Given the description of an element on the screen output the (x, y) to click on. 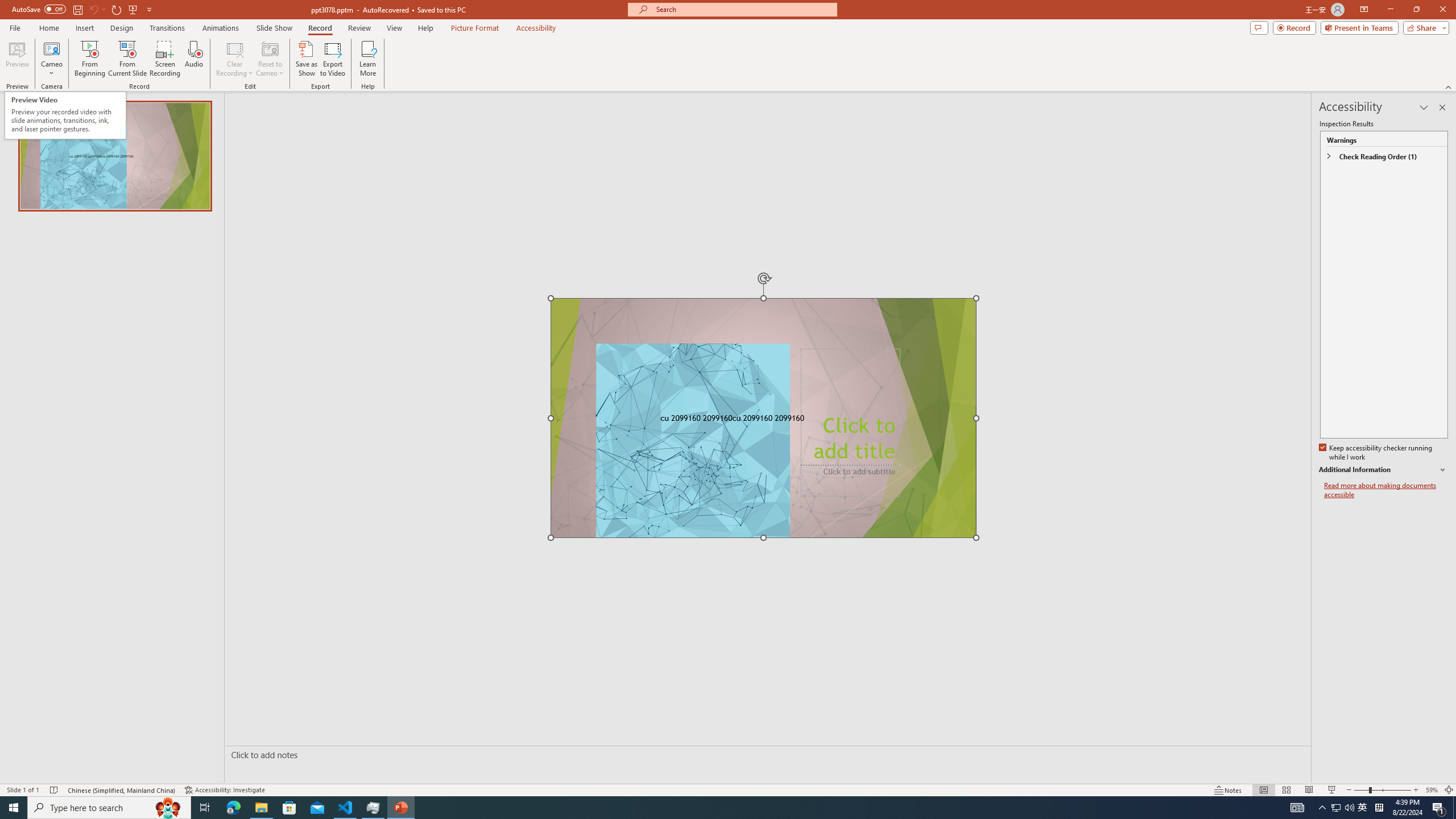
From Beginning... (89, 58)
